Given the description of an element on the screen output the (x, y) to click on. 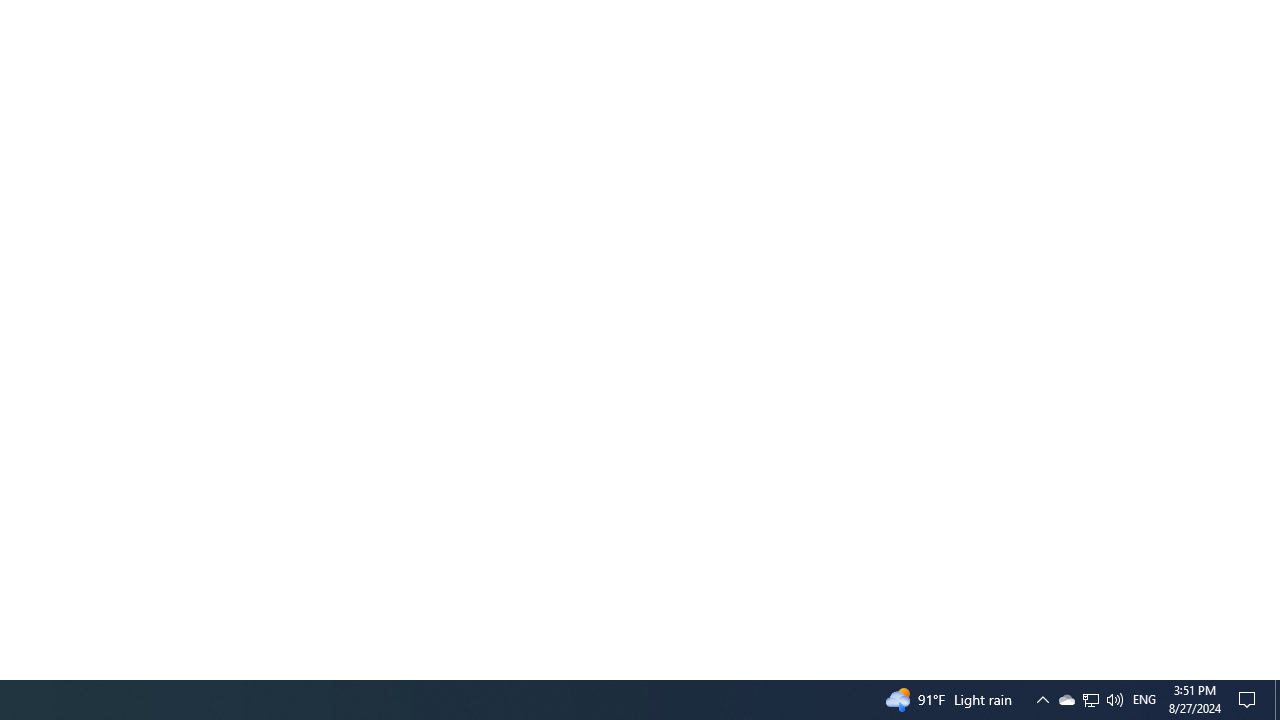
Action Center, No new notifications (1250, 699)
Tray Input Indicator - English (United States) (1144, 699)
Notification Chevron (1042, 699)
Show desktop (1277, 699)
User Promoted Notification Area (1090, 699)
Q2790: 100% (1066, 699)
